Given the description of an element on the screen output the (x, y) to click on. 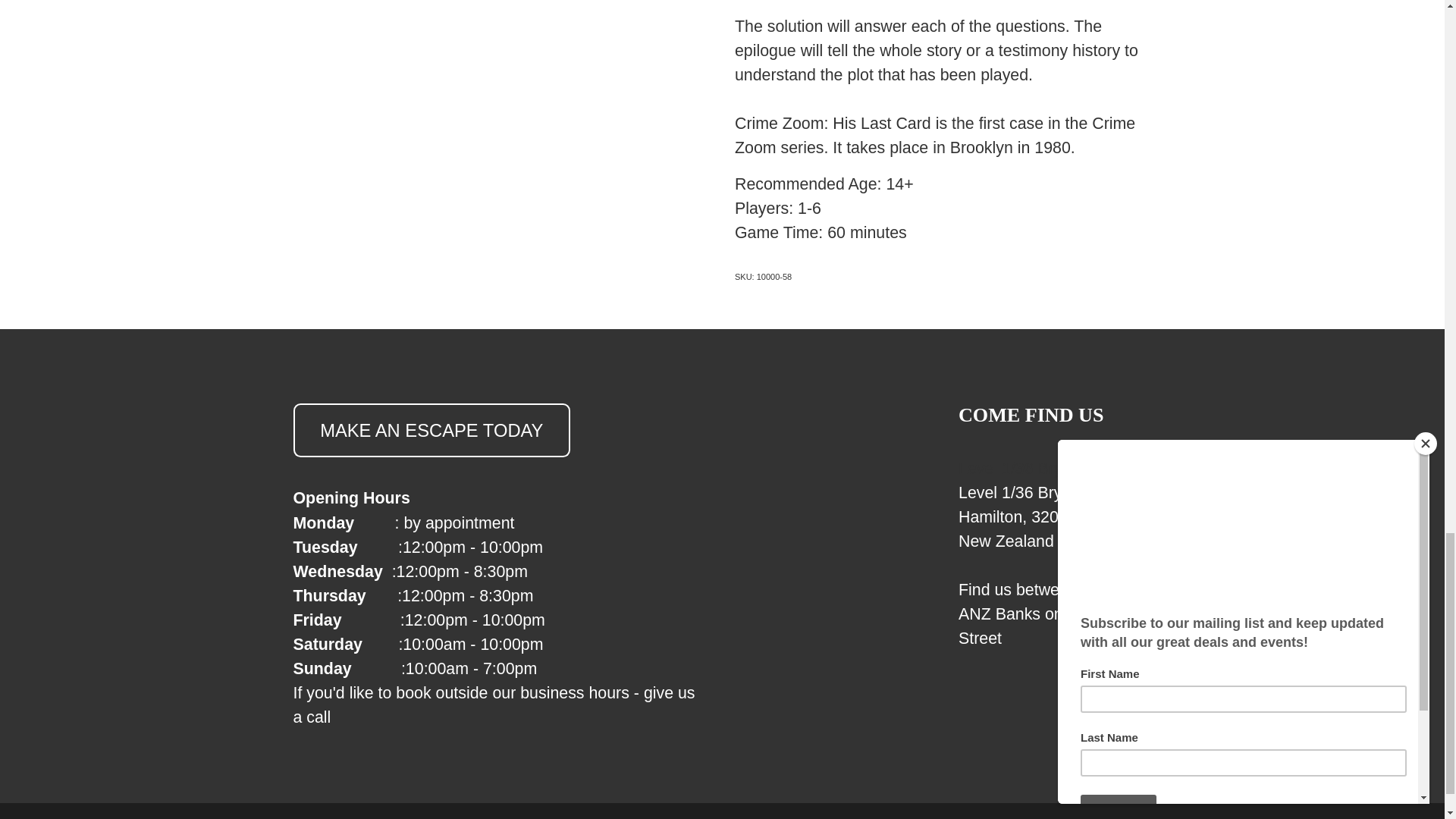
MAKE AN ESCAPE TODAY (431, 430)
